Given the description of an element on the screen output the (x, y) to click on. 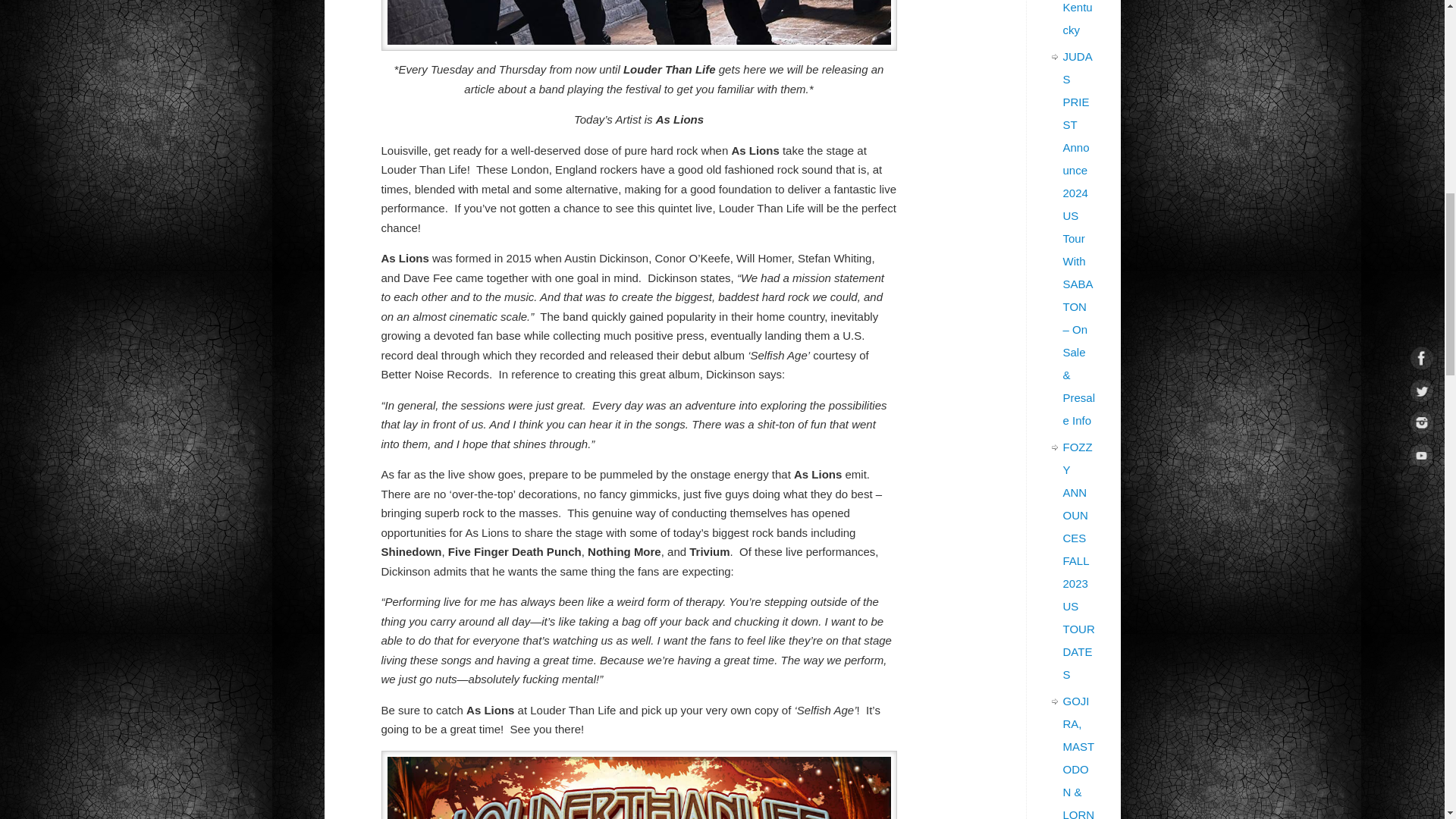
Tesla Keeps It Real In Ashland, Kentucky (1079, 18)
